Given the description of an element on the screen output the (x, y) to click on. 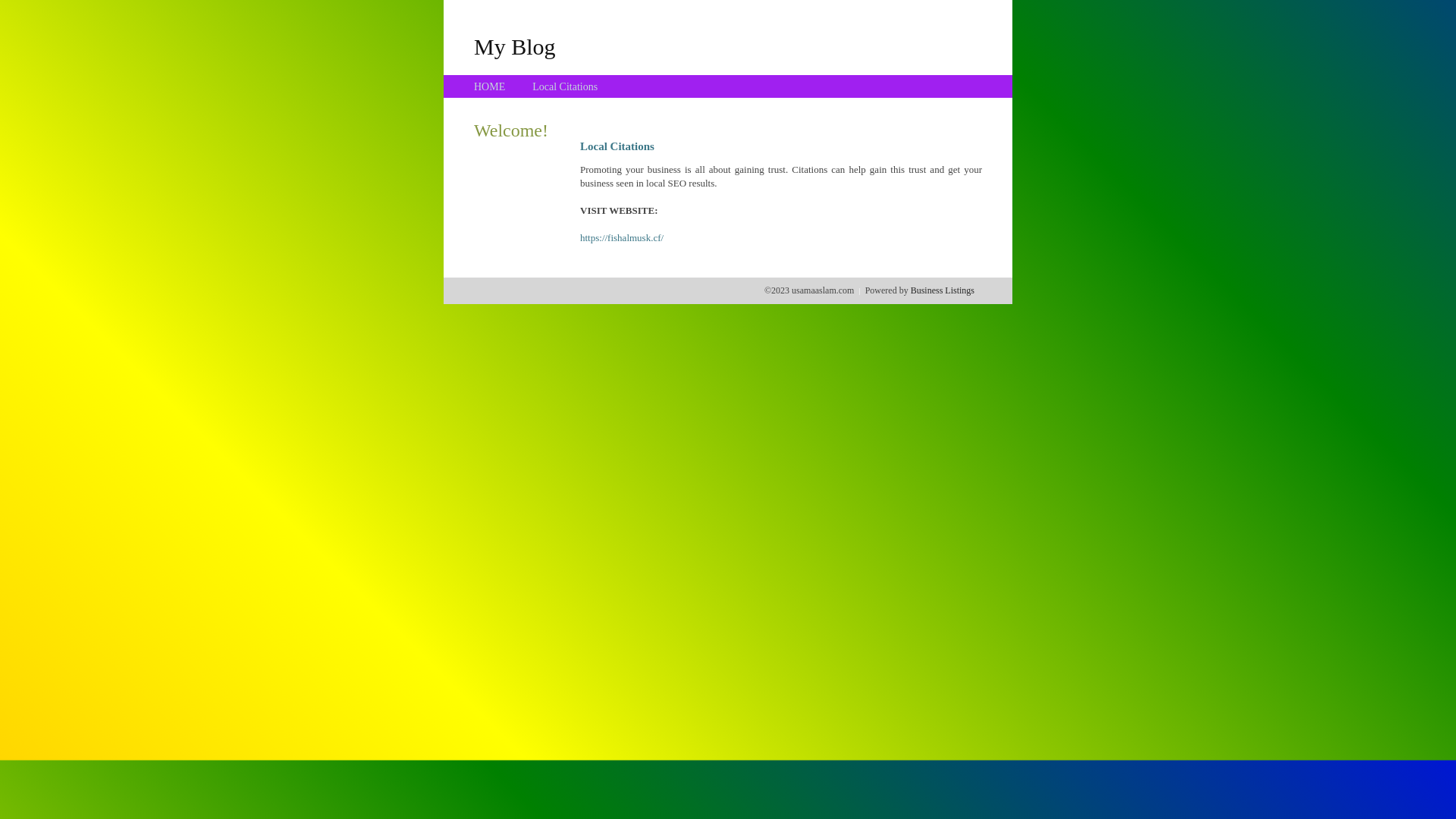
HOME Element type: text (489, 86)
Business Listings Element type: text (942, 290)
Local Citations Element type: text (564, 86)
https://fishalmusk.cf/ Element type: text (621, 237)
My Blog Element type: text (514, 46)
